Given the description of an element on the screen output the (x, y) to click on. 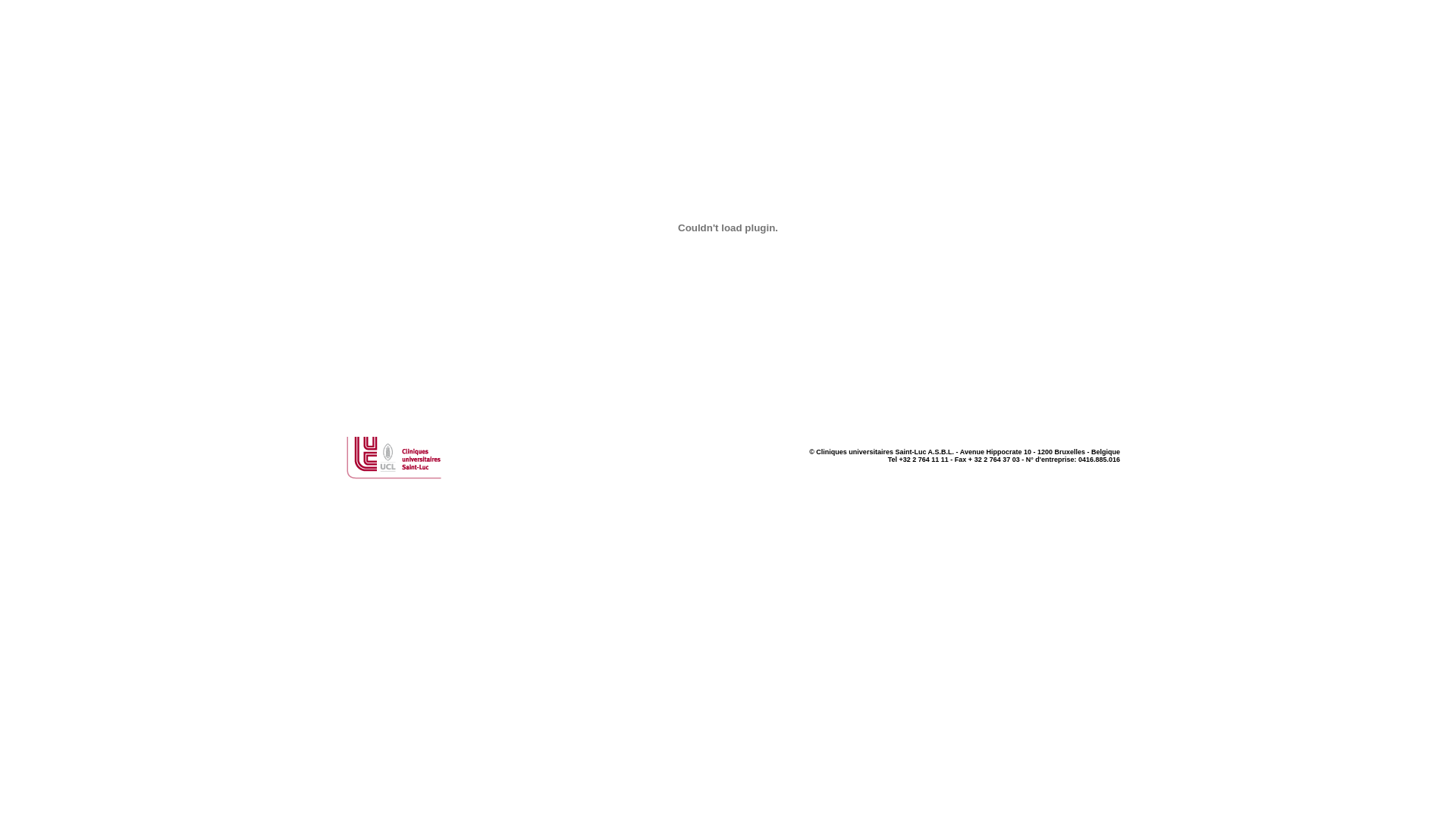
intropeca Element type: hover (727, 227)
